Given the description of an element on the screen output the (x, y) to click on. 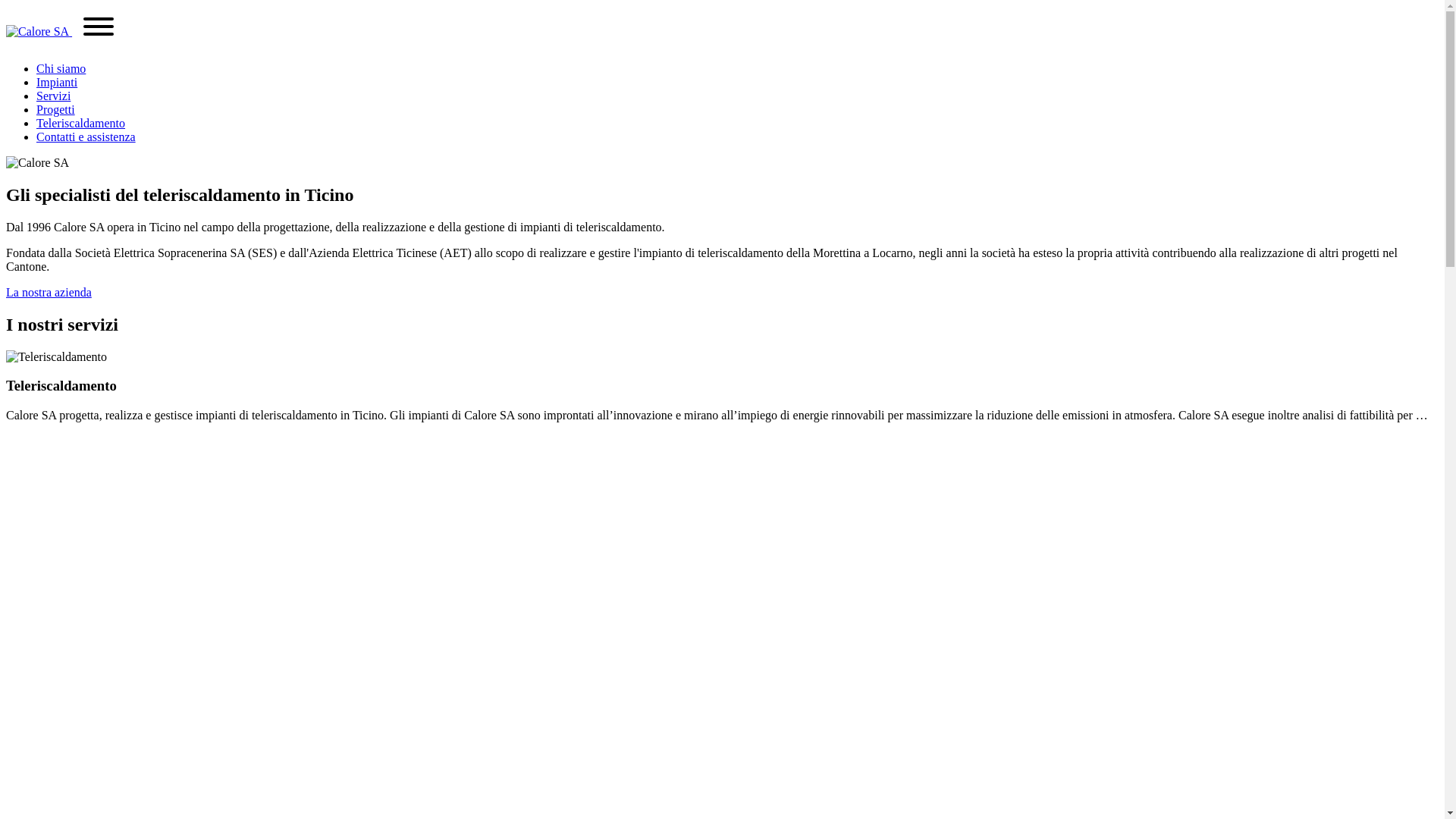
Chi siamo Element type: text (60, 68)
Progetti Element type: text (55, 109)
Teleriscaldamento Element type: text (80, 122)
Servizi Element type: text (53, 95)
La nostra azienda Element type: text (48, 291)
Contatti e assistenza Element type: text (85, 136)
Impianti Element type: text (56, 81)
